Given the description of an element on the screen output the (x, y) to click on. 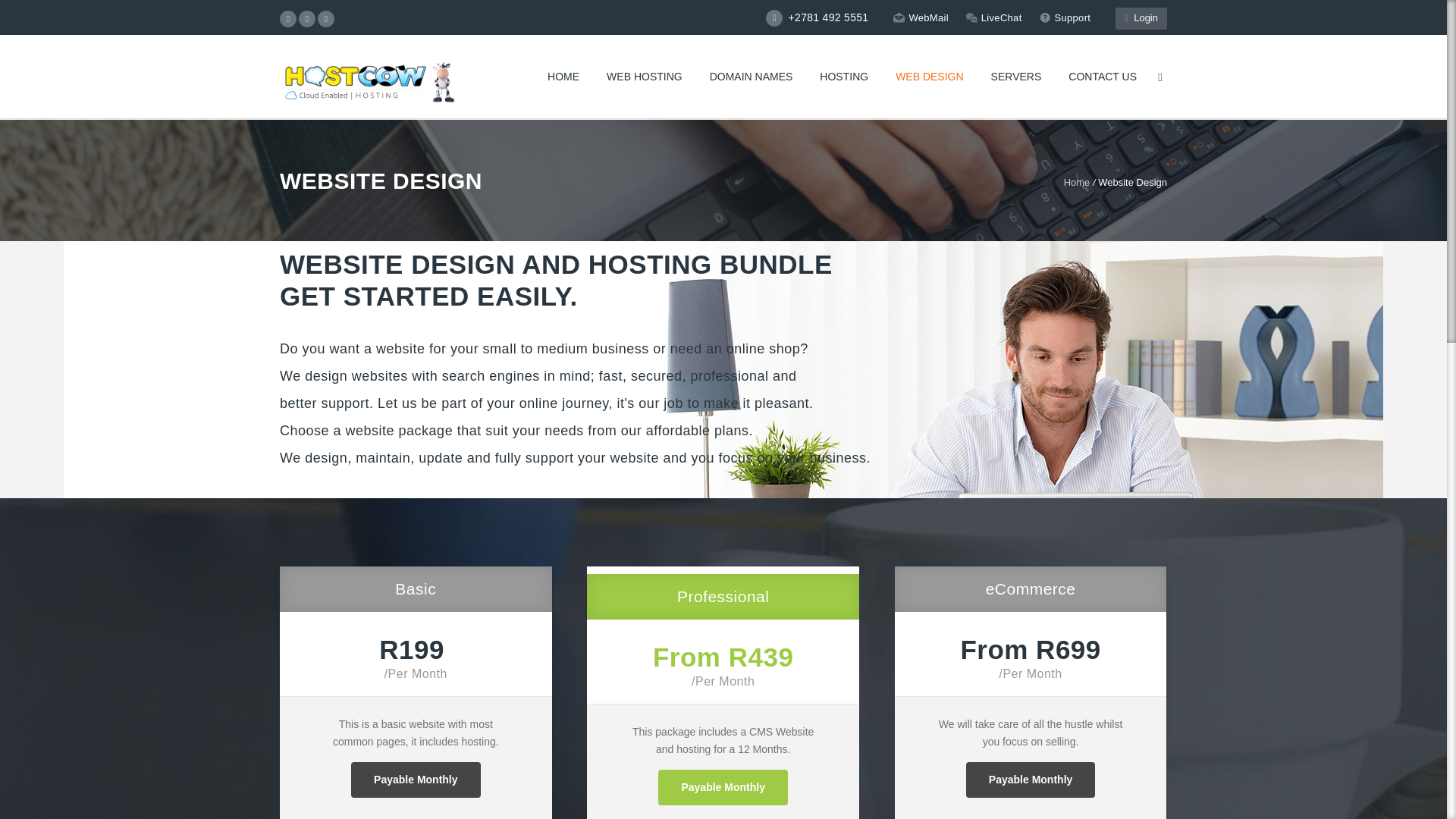
CONTACT US (1102, 76)
WEB DESIGN (929, 76)
Support (1064, 17)
HOSTING (844, 76)
LiveChat (994, 17)
SERVERS (1015, 76)
Home (1077, 182)
DOMAIN NAMES (750, 76)
  Login (1141, 18)
WEB HOSTING (643, 76)
HOME (563, 76)
WebMail (920, 17)
